Given the description of an element on the screen output the (x, y) to click on. 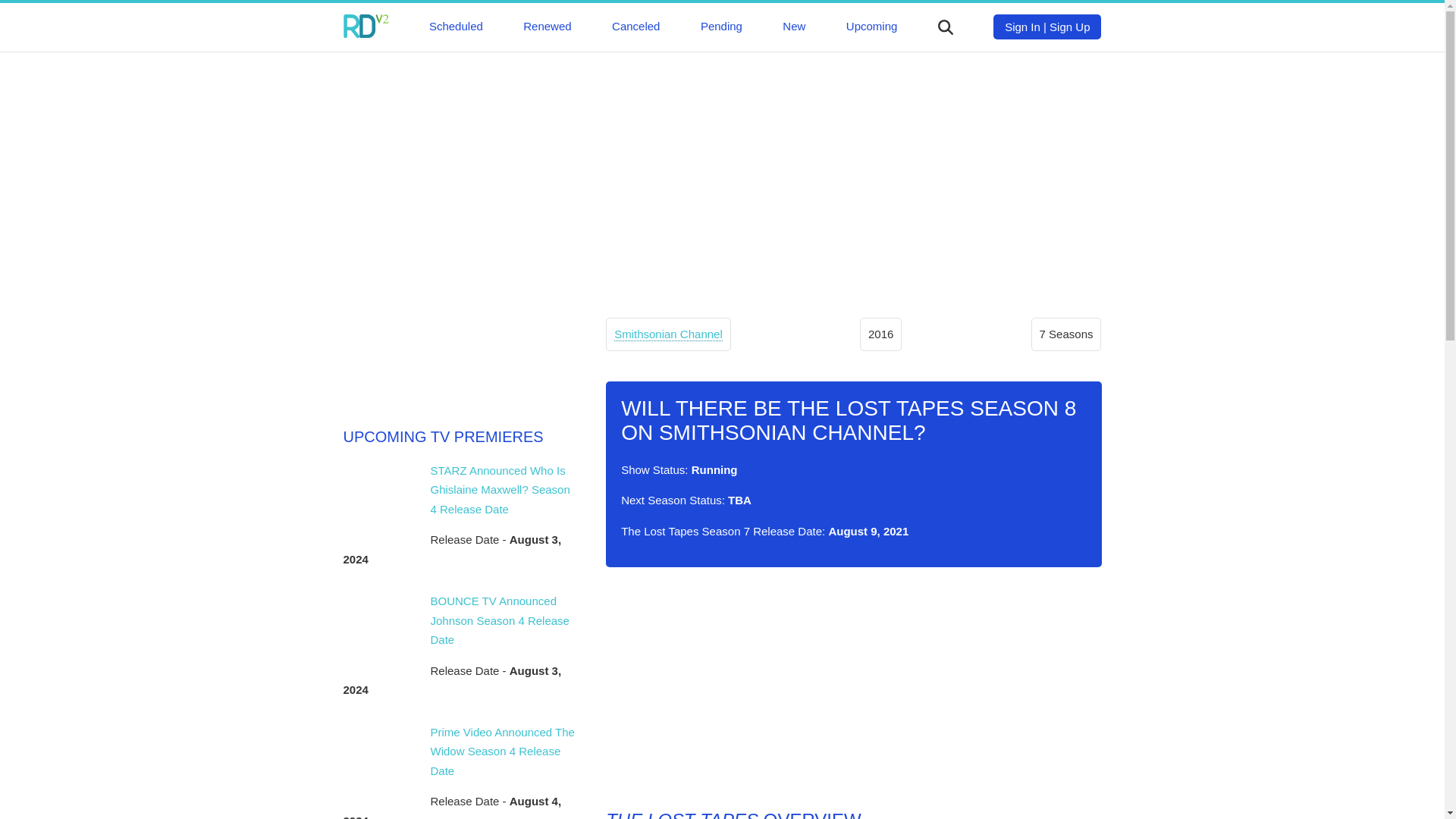
Canceled (635, 25)
Smithsonian Channel (668, 334)
Advertisement (852, 688)
Upcoming (871, 25)
Pending (721, 25)
Sign In (1022, 26)
New (794, 25)
Renewed (546, 25)
Scheduled (456, 25)
Sign Up (1069, 26)
